Given the description of an element on the screen output the (x, y) to click on. 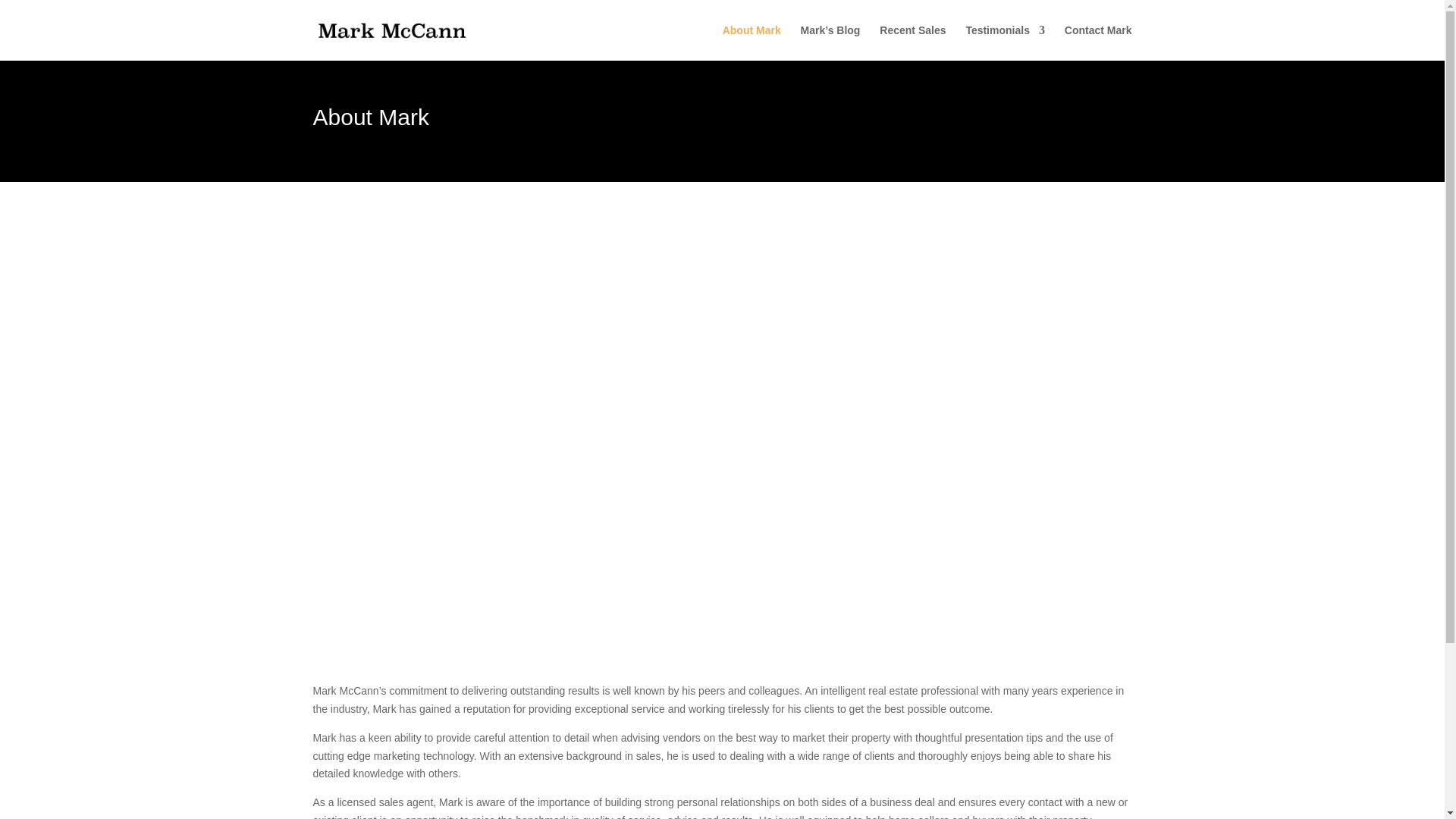
Testimonials (1005, 42)
About Mark (751, 42)
Contact Mark (1098, 42)
Recent Sales (911, 42)
